Given the description of an element on the screen output the (x, y) to click on. 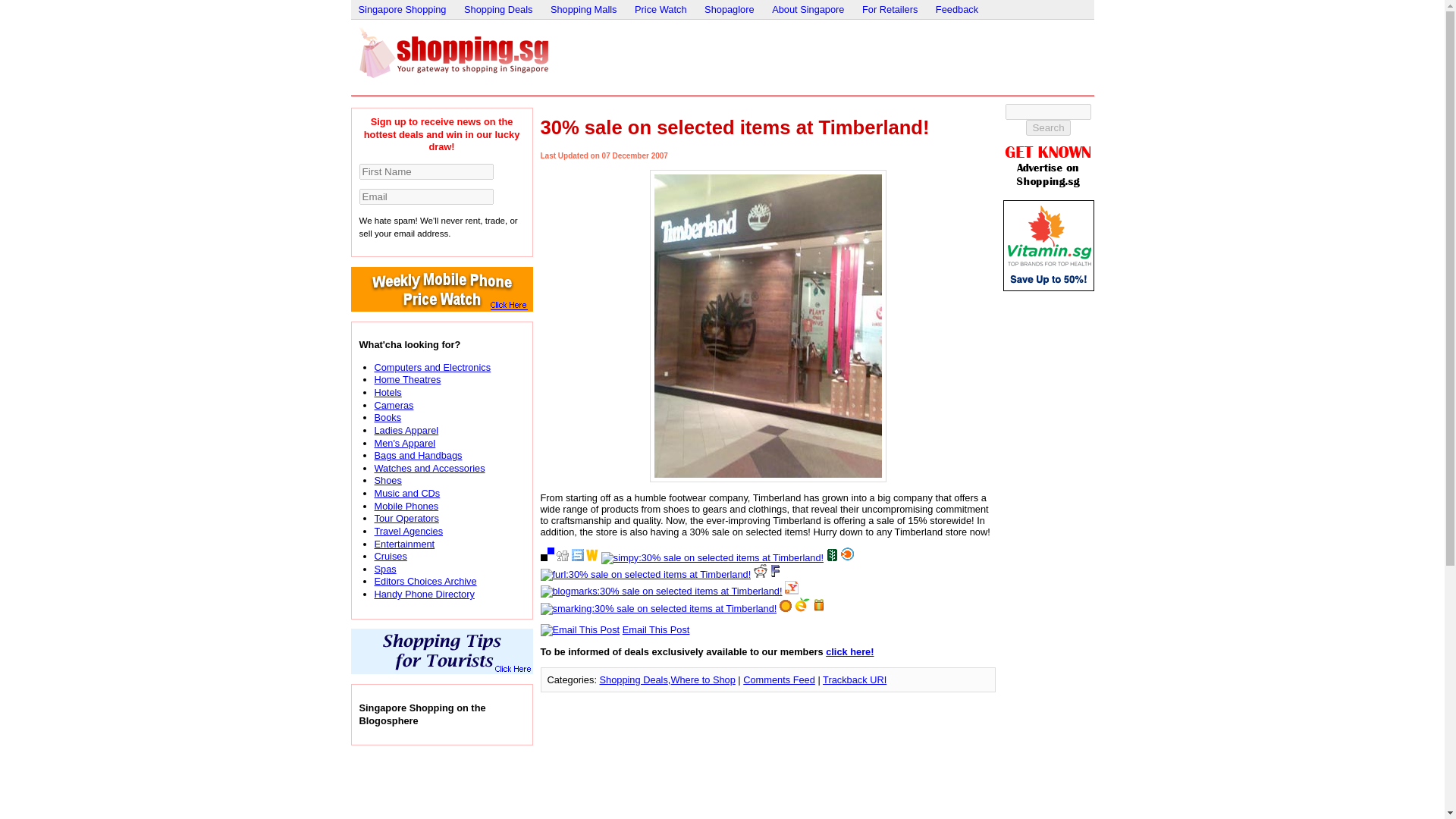
Shopaglore (729, 9)
Singapore Shopping (401, 9)
Books (387, 417)
Hotels (387, 392)
Comments Feed (778, 679)
Feedback (957, 9)
Trackback URI (854, 679)
Shopping Malls (583, 9)
Cameras (393, 405)
Computers and Electronics (433, 367)
Where to Shop (702, 679)
Singapore Shopping (452, 52)
Price Watch (660, 9)
For Retailers (889, 9)
Shopping Deals (498, 9)
